Given the description of an element on the screen output the (x, y) to click on. 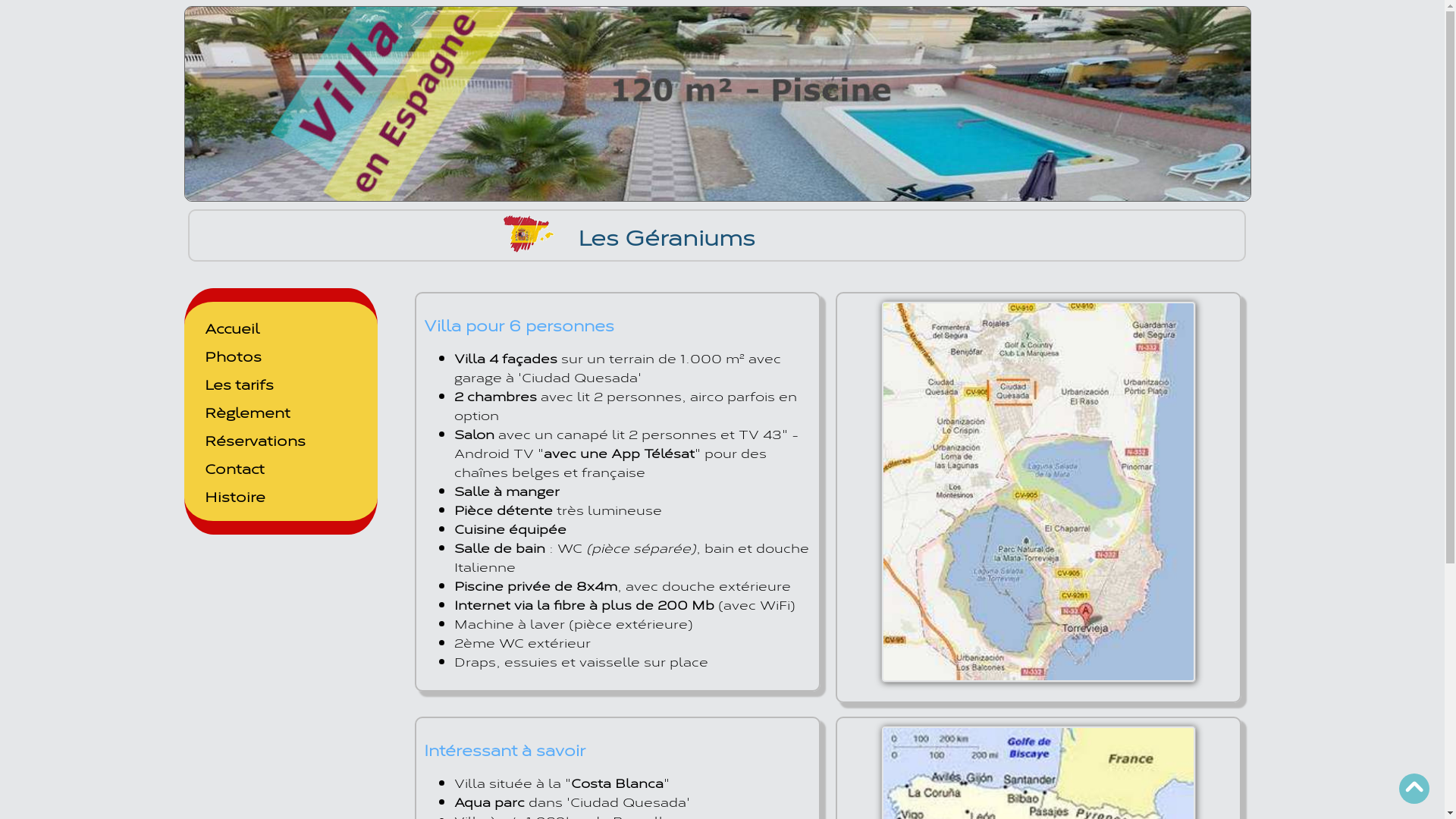
Les tarifs Element type: text (238, 383)
Photos Element type: text (232, 355)
Histoire Element type: text (234, 495)
Contact Element type: text (234, 467)
Accueil Element type: text (232, 327)
